Given the description of an element on the screen output the (x, y) to click on. 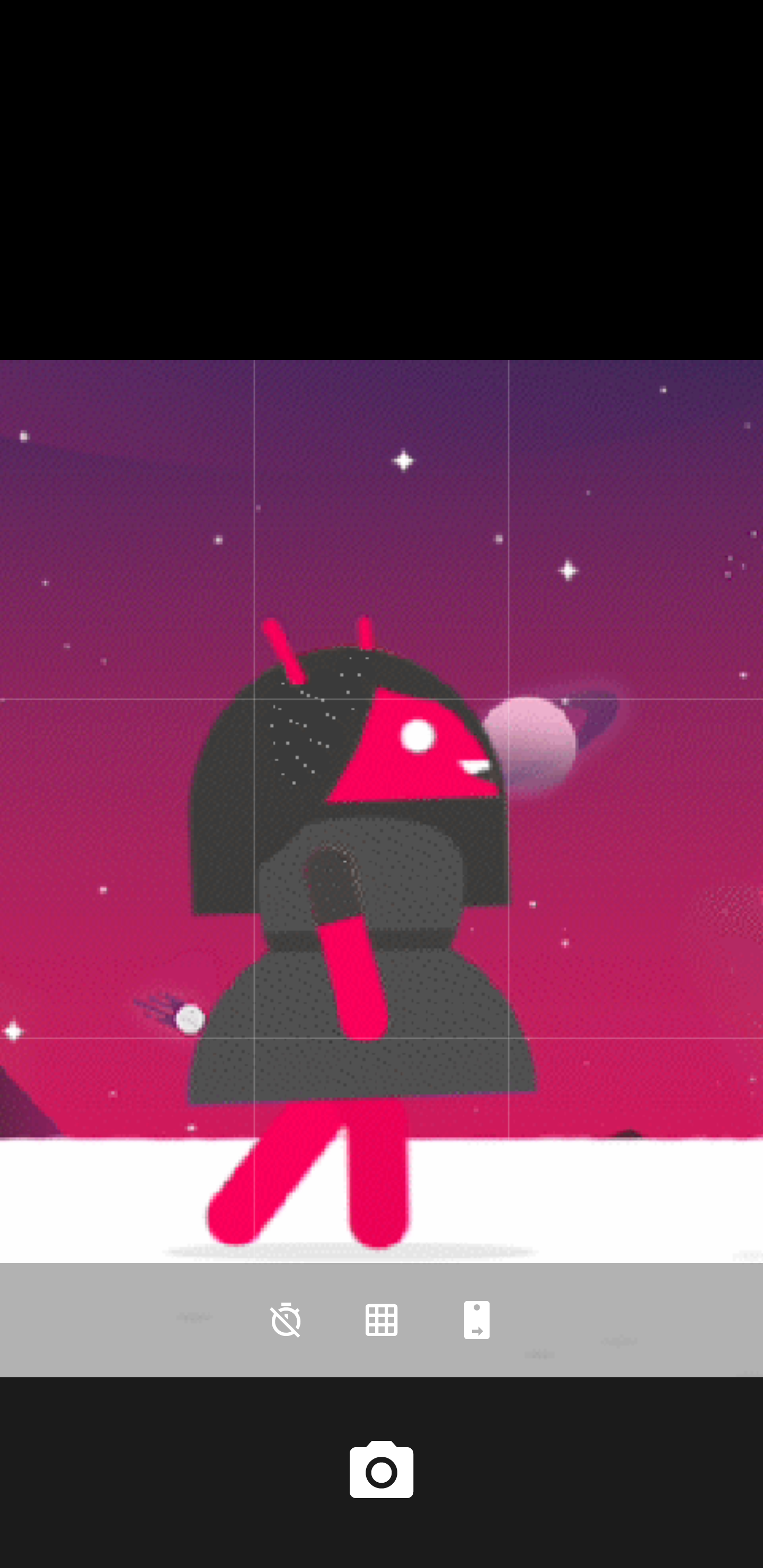
Countdown timer is off (285, 1319)
Grid lines on (381, 1319)
Back camera (476, 1319)
Shutter (381, 1472)
